Given the description of an element on the screen output the (x, y) to click on. 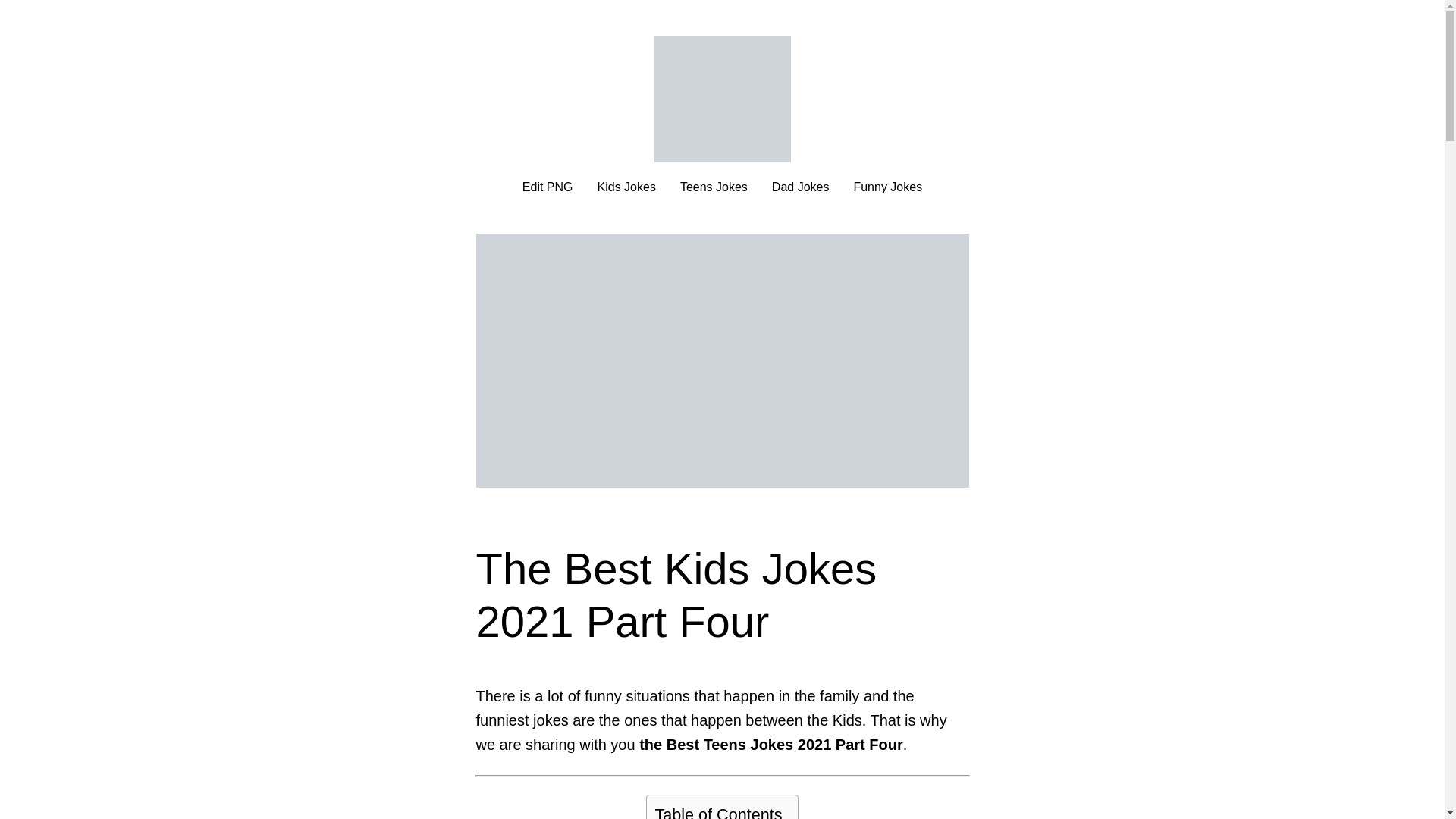
Teens Jokes (713, 187)
Edit PNG (547, 187)
Kids Jokes (626, 187)
Dad Jokes (800, 187)
Funny Jokes (887, 187)
